Given the description of an element on the screen output the (x, y) to click on. 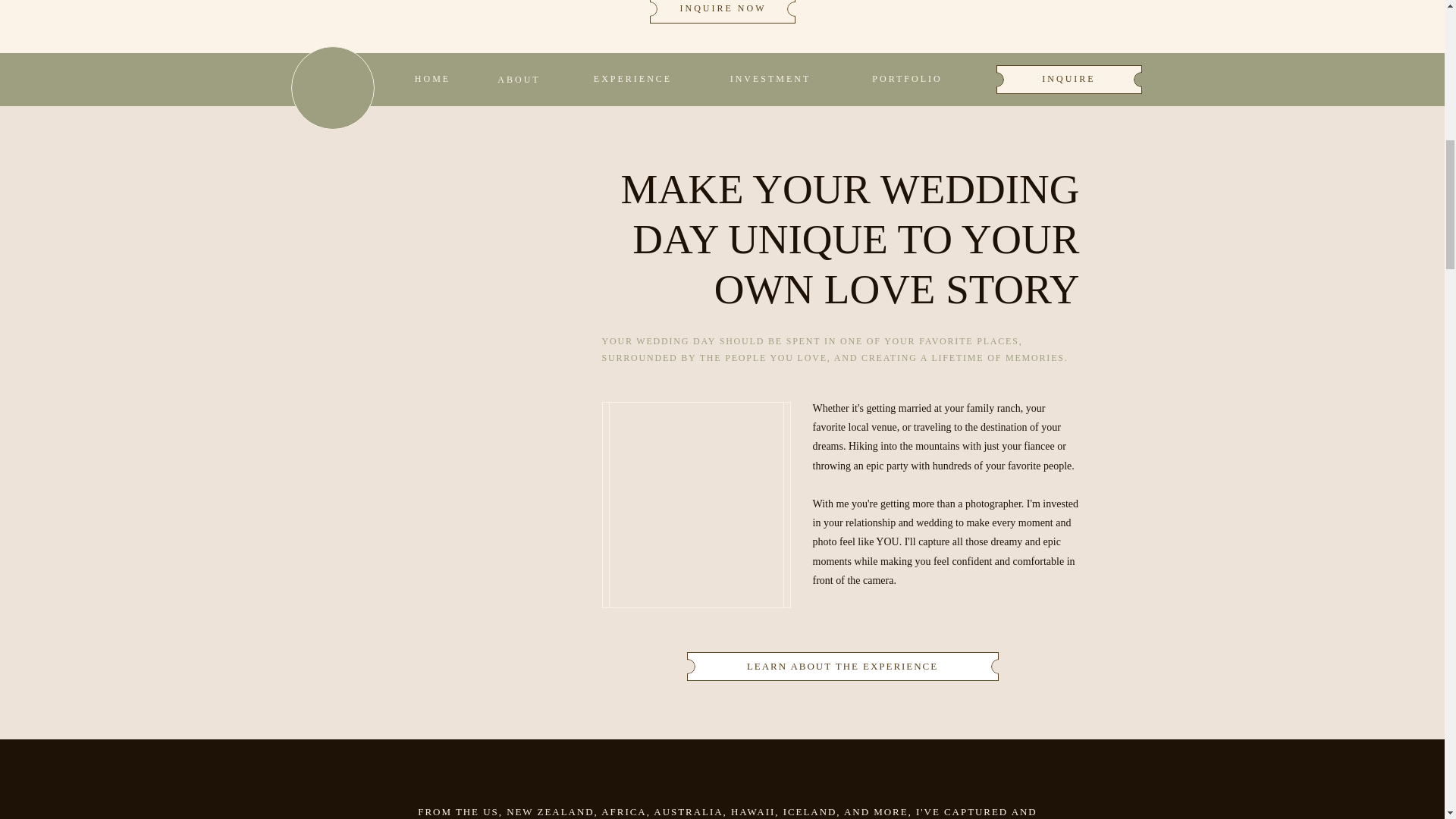
INVESTMENT (769, 79)
PORTFOLIO (907, 78)
INQUIRE NOW (722, 8)
EXPERIENCE (632, 79)
INQUIRE (1067, 79)
LEARN ABOUT THE EXPERIENCE (841, 666)
ABOUT (518, 80)
HOME (431, 79)
